Given the description of an element on the screen output the (x, y) to click on. 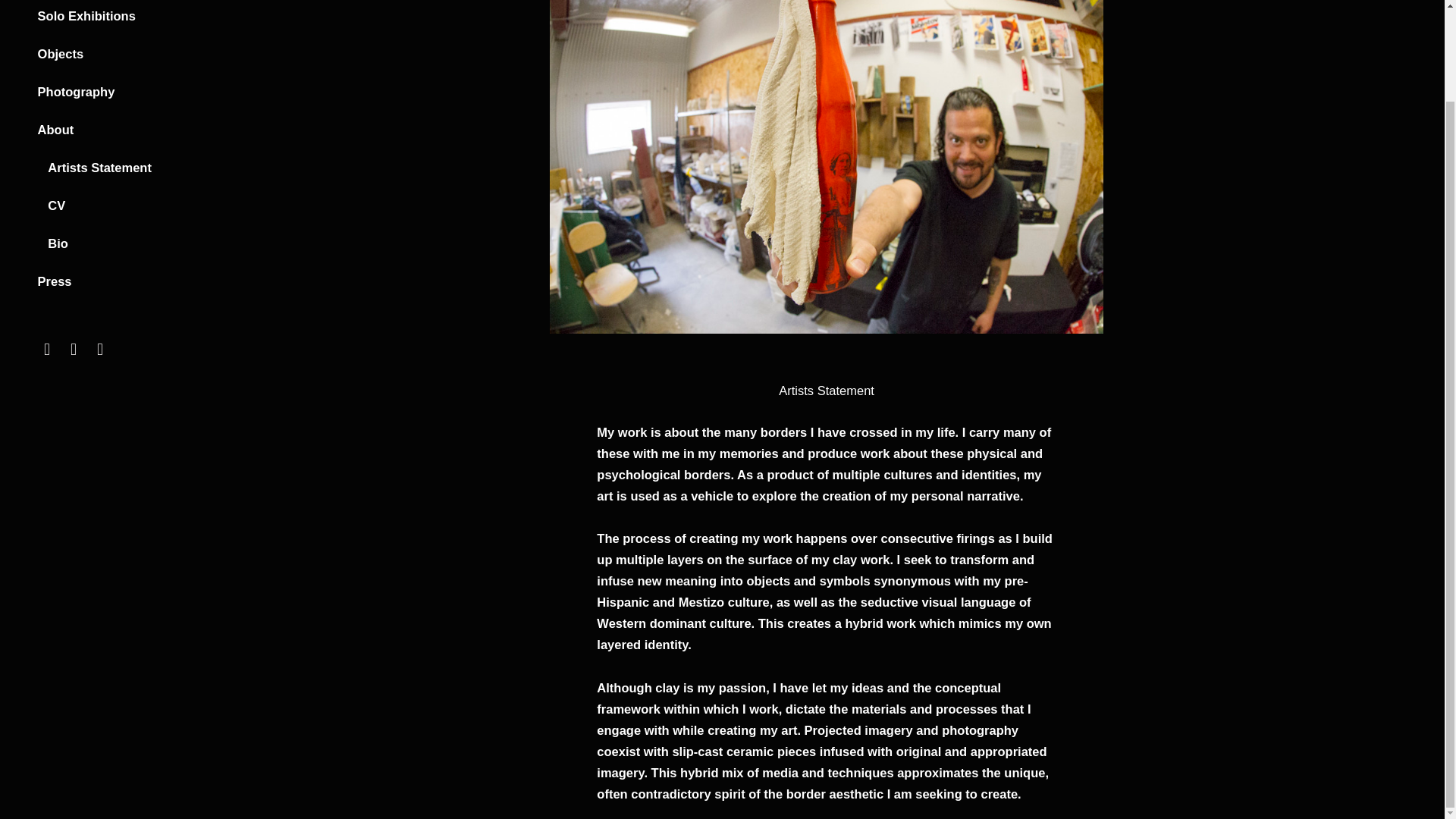
Photography (76, 91)
Solo Exhibitions (86, 15)
Bio (58, 243)
CV (56, 205)
About (55, 129)
Press (54, 281)
Artists Statement (99, 167)
Objects (60, 53)
